Given the description of an element on the screen output the (x, y) to click on. 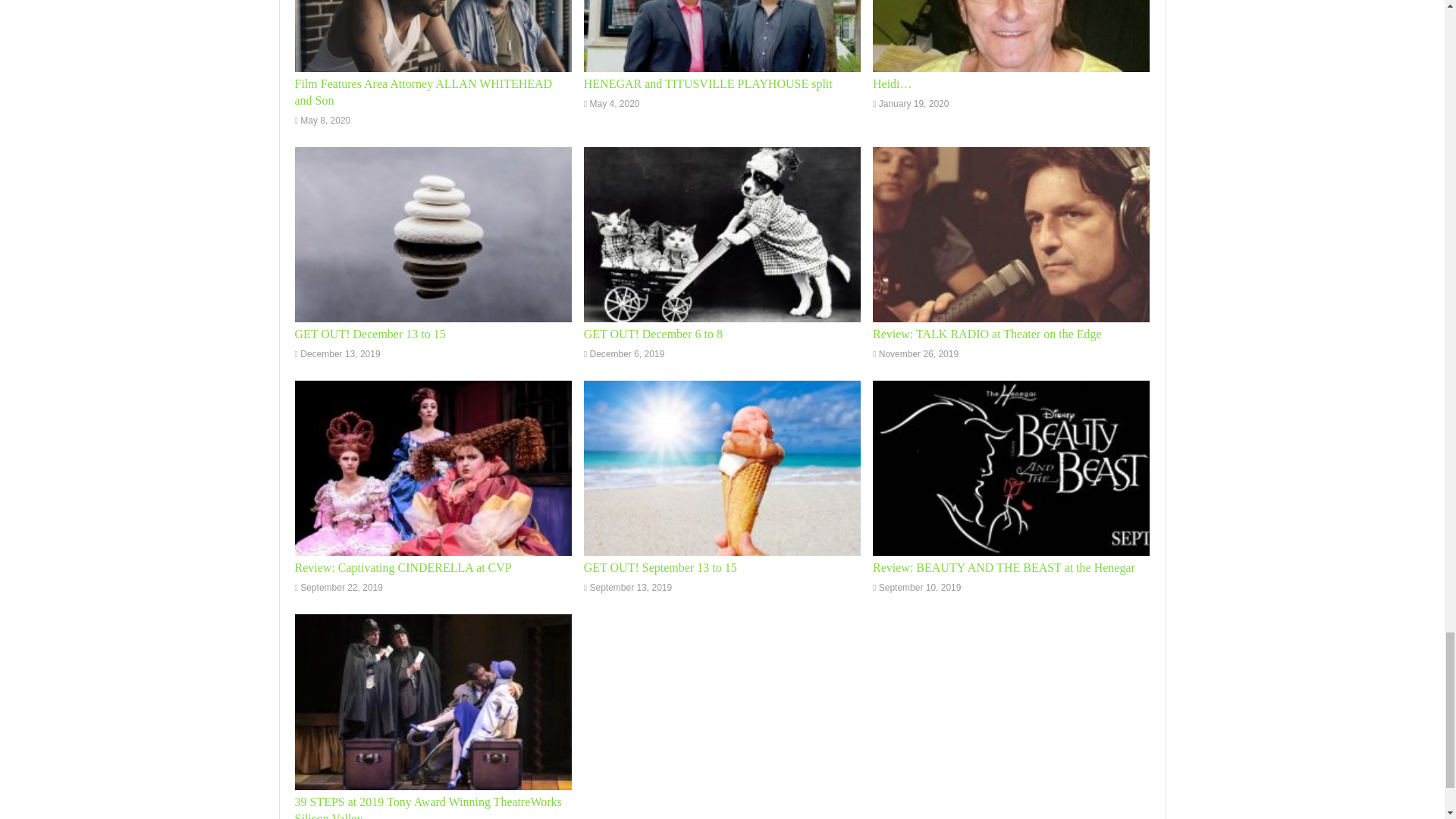
GET OUT! December 6 to 8 (721, 234)
GET OUT! December 13 to 15 (369, 333)
HENEGAR and TITUSVILLE PLAYHOUSE split (707, 83)
Film Features Area Attorney ALLAN WHITEHEAD and Son (432, 35)
GET OUT! December 13 to 15 (432, 234)
Film Features Area Attorney ALLAN WHITEHEAD and Son (422, 91)
HENEGAR and TITUSVILLE PLAYHOUSE split (721, 35)
GET OUT! December 6 to 8 (652, 333)
